Given the description of an element on the screen output the (x, y) to click on. 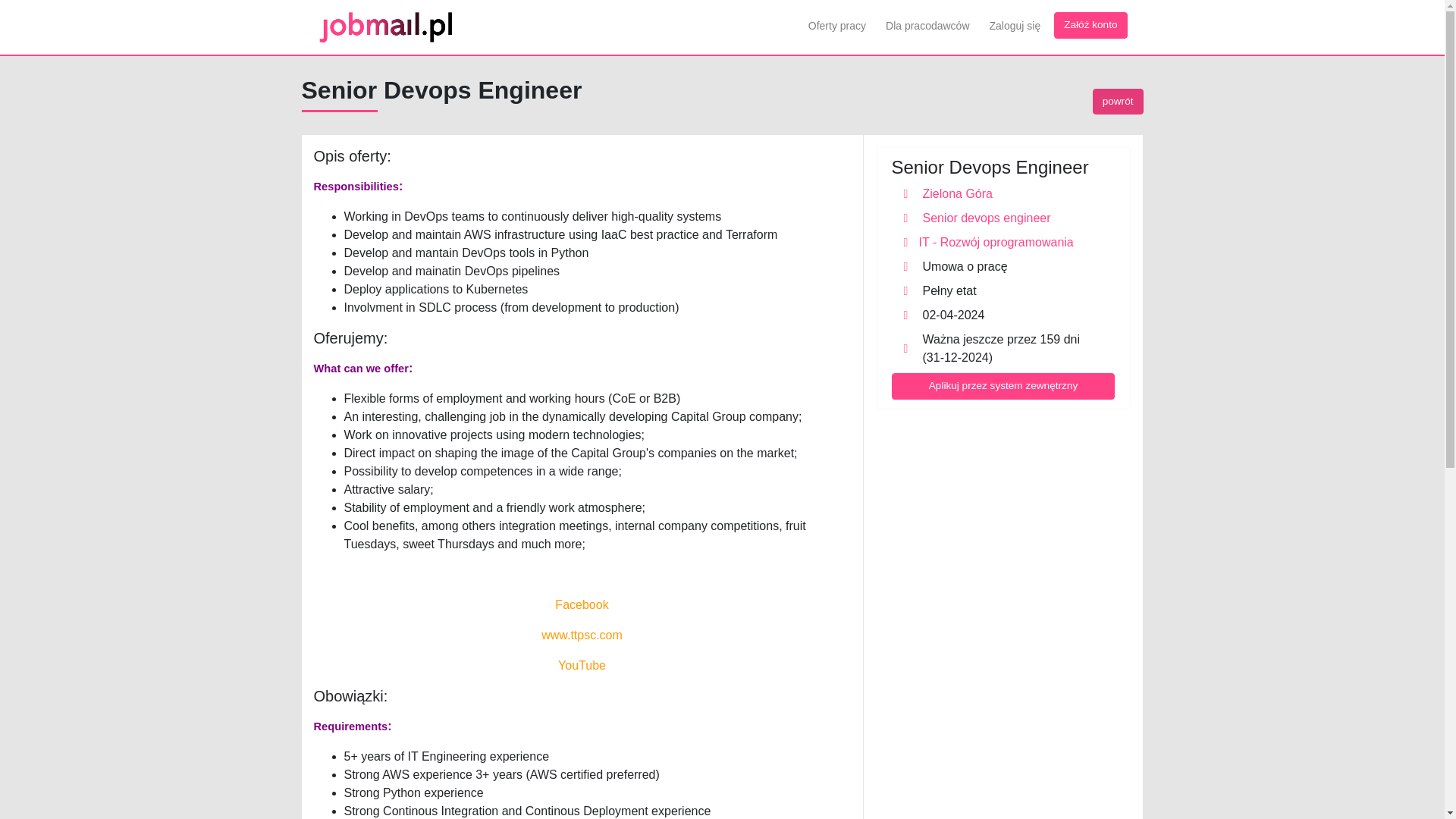
Facebook (581, 604)
Zobacz oferty z Senior Devops Engineer (1003, 218)
YouTube (581, 665)
Senior devops engineer (1003, 218)
jobmail.pl (384, 27)
Oferty pracy (837, 26)
www.ttpsc.com (582, 634)
